Given the description of an element on the screen output the (x, y) to click on. 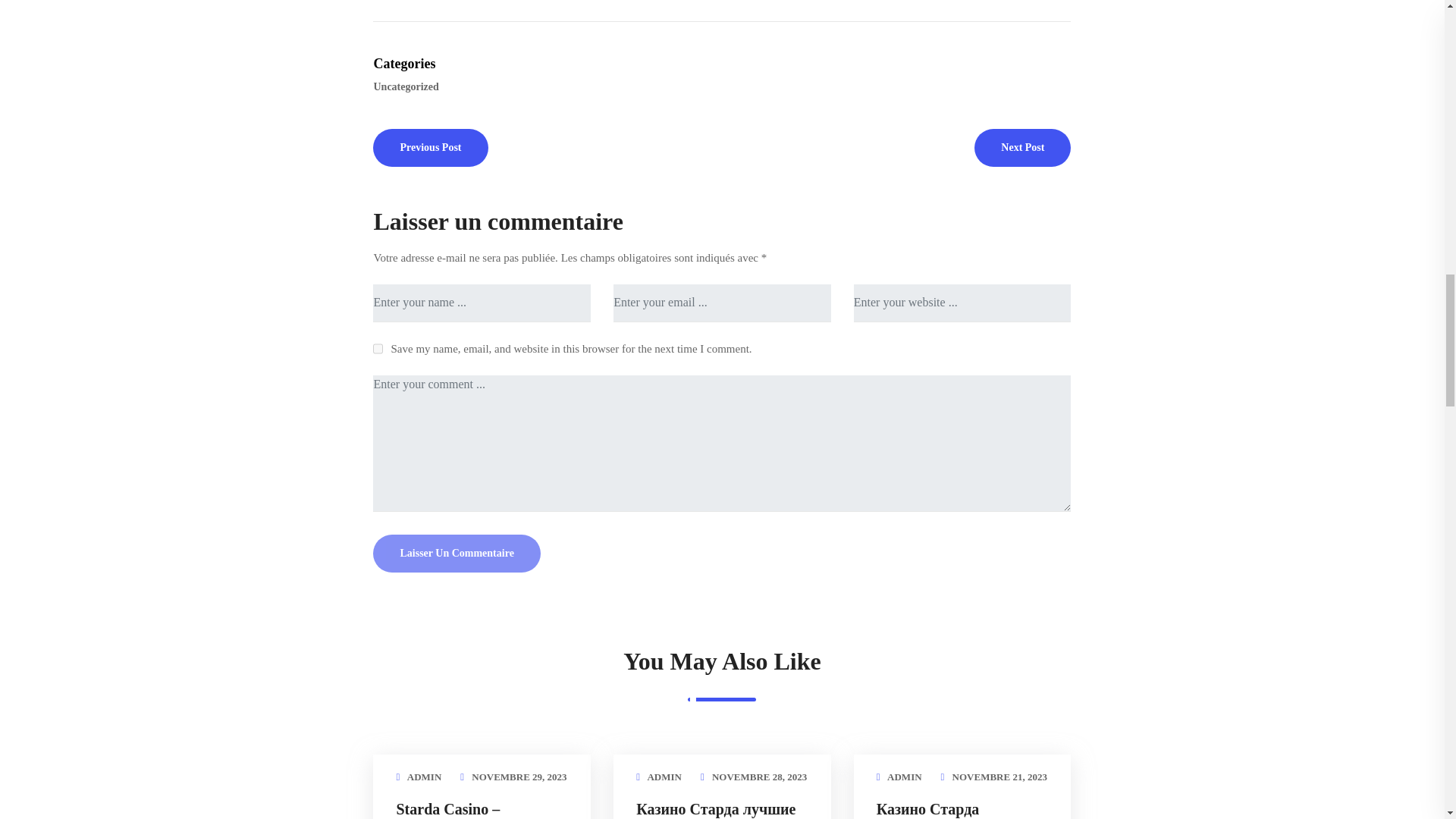
ADMIN (424, 776)
NOVEMBRE 21, 2023 (999, 776)
NOVEMBRE 29, 2023 (518, 776)
Uncategorized (407, 86)
Laisser un commentaire (456, 553)
ADMIN (663, 776)
ADMIN (903, 776)
Laisser un commentaire (456, 553)
Previous Post (429, 147)
NOVEMBRE 28, 2023 (758, 776)
